Given the description of an element on the screen output the (x, y) to click on. 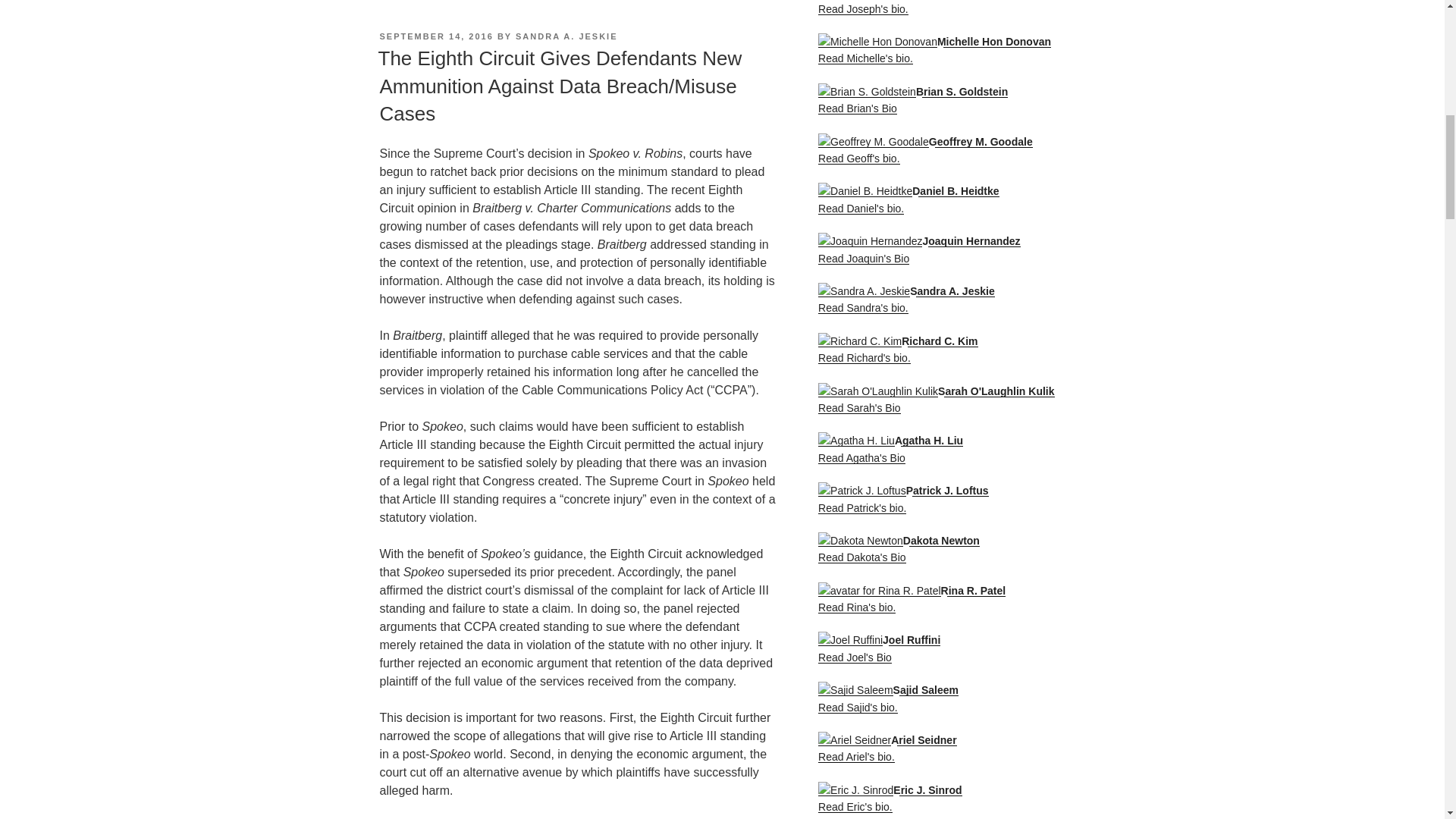
SANDRA A. JESKIE (566, 35)
SEPTEMBER 14, 2016 (435, 35)
